Given the description of an element on the screen output the (x, y) to click on. 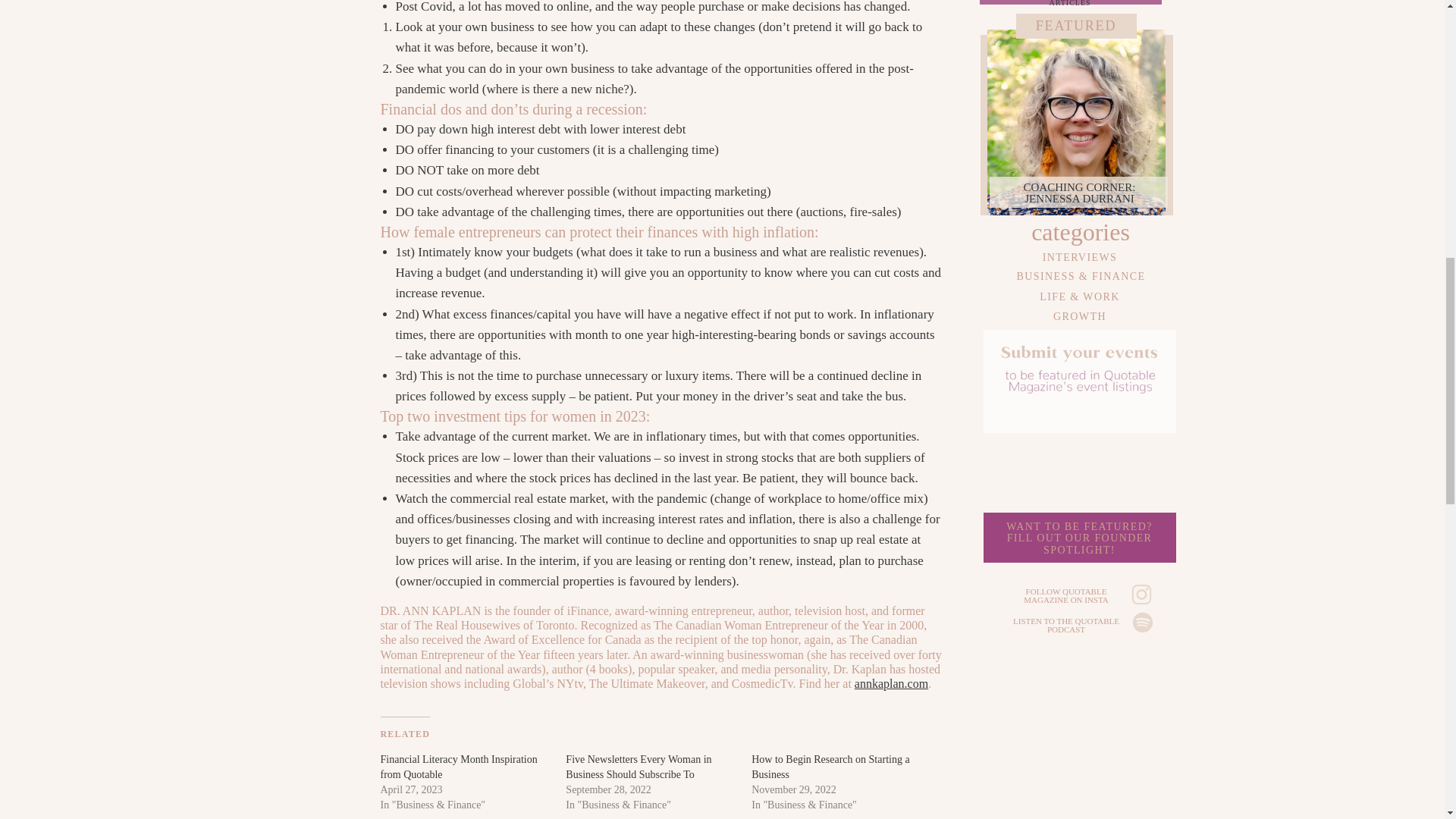
How to Begin Research on Starting a Business (829, 766)
annkaplan.com (891, 683)
INTERVIEWS (1080, 254)
GROWTH (1078, 541)
Five Newsletters Every Woman in Business Should Subscribe To (1079, 194)
Financial Literacy Month Inspiration from Quotable (1079, 314)
